Given the description of an element on the screen output the (x, y) to click on. 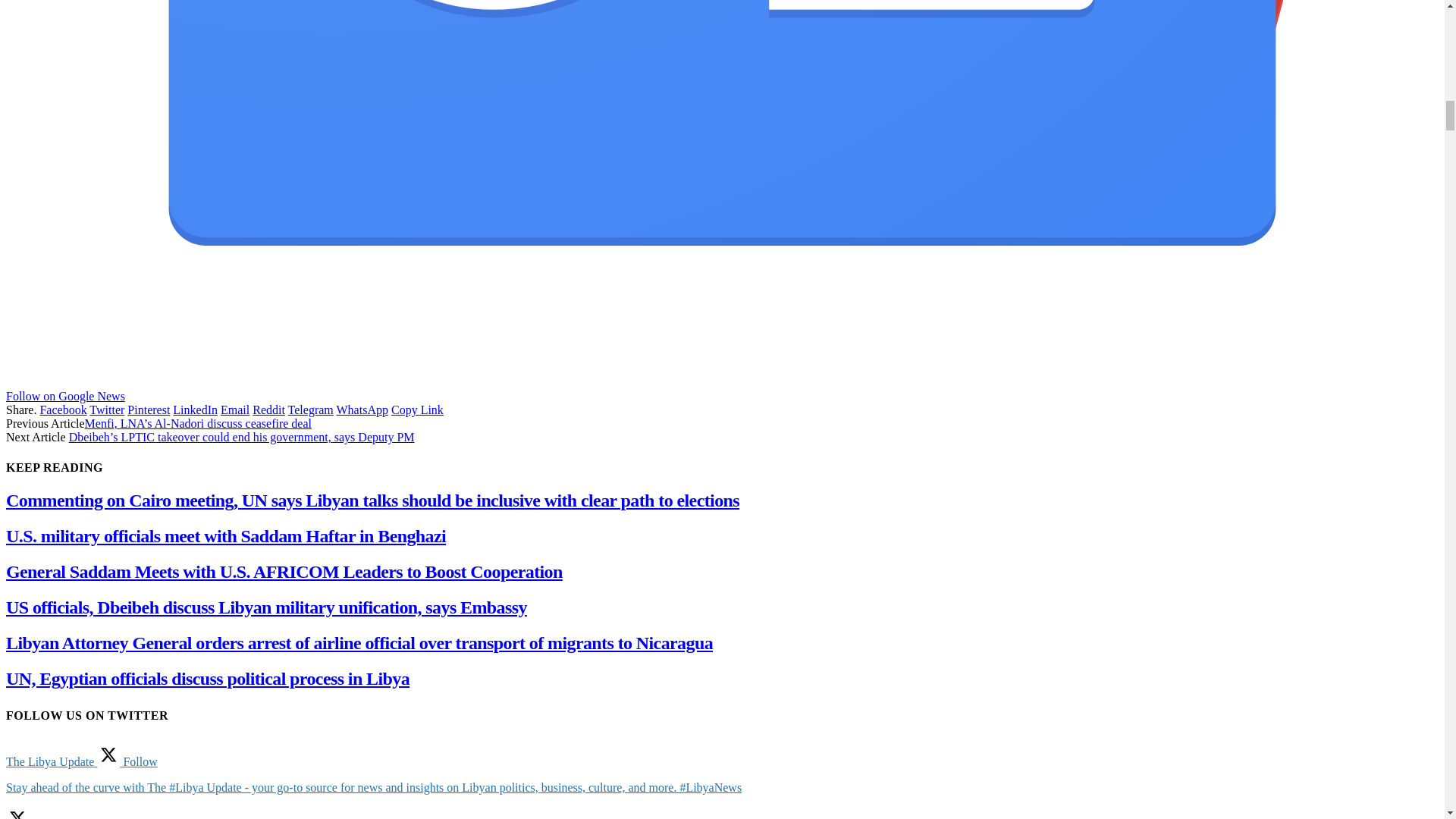
Share on Pinterest (149, 409)
Share on Facebook (62, 409)
Share via Email (234, 409)
Share on LinkedIn (194, 409)
